Given the description of an element on the screen output the (x, y) to click on. 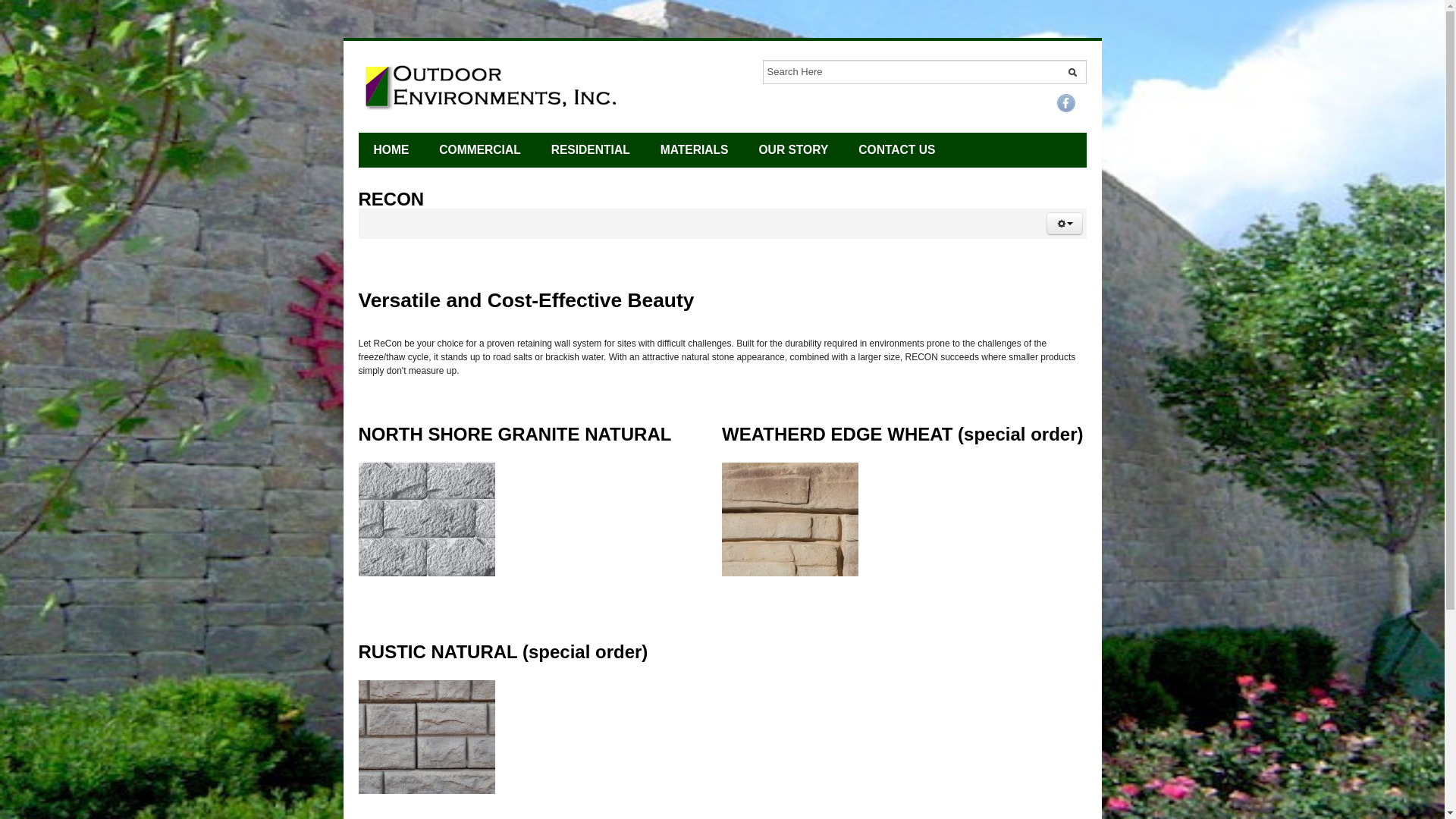
Search Here (924, 71)
COMMERCIAL (479, 149)
Call Us at 513-541-6100 (492, 86)
Facebook (1066, 103)
MATERIALS (694, 149)
Facebook (1066, 103)
OUR STORY (792, 149)
HOME (390, 149)
Unique (590, 149)
Start here (390, 149)
RESIDENTIAL (590, 149)
CONTACT US (896, 149)
